Given the description of an element on the screen output the (x, y) to click on. 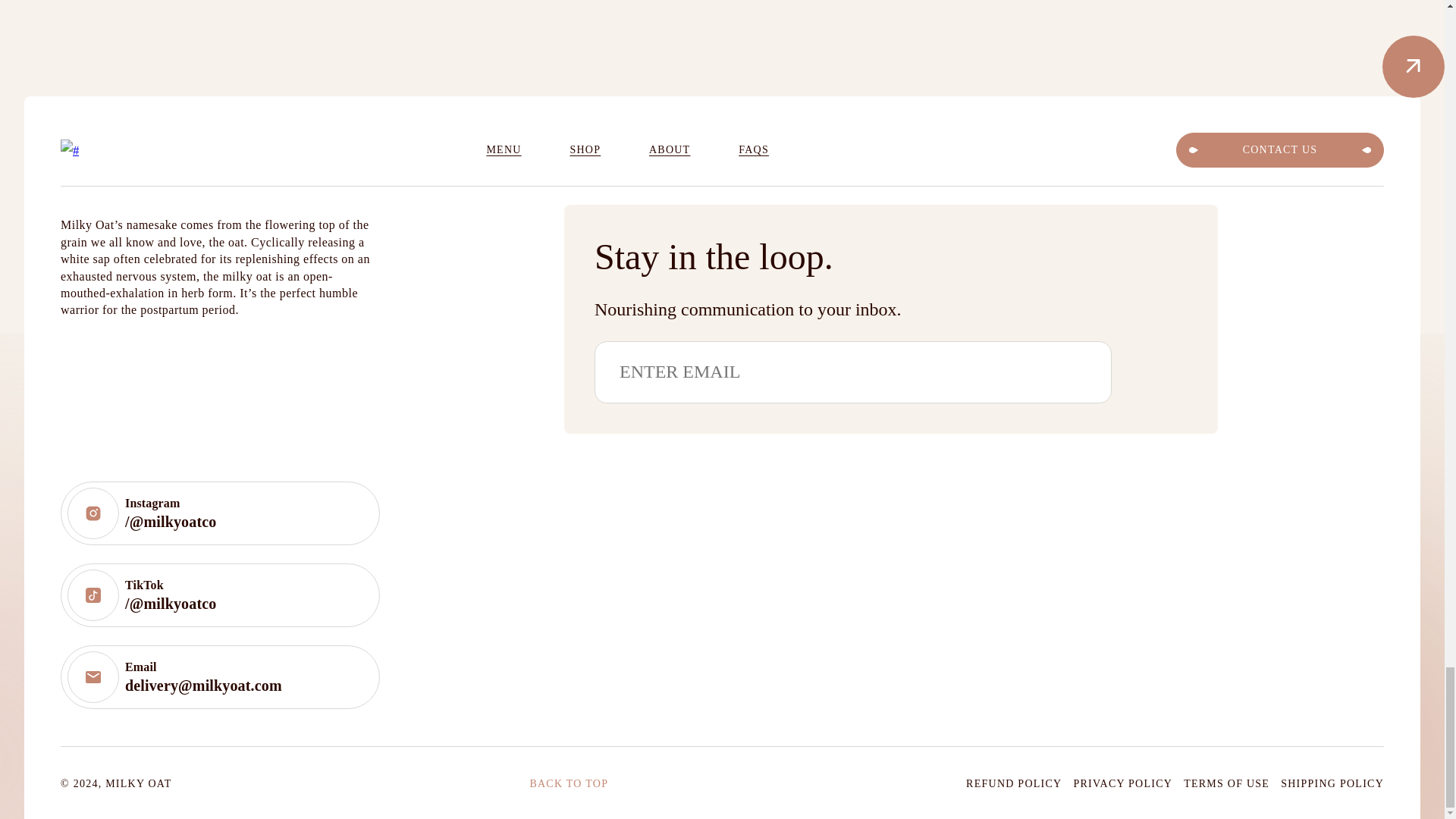
BACK TO TOP (569, 783)
